Given the description of an element on the screen output the (x, y) to click on. 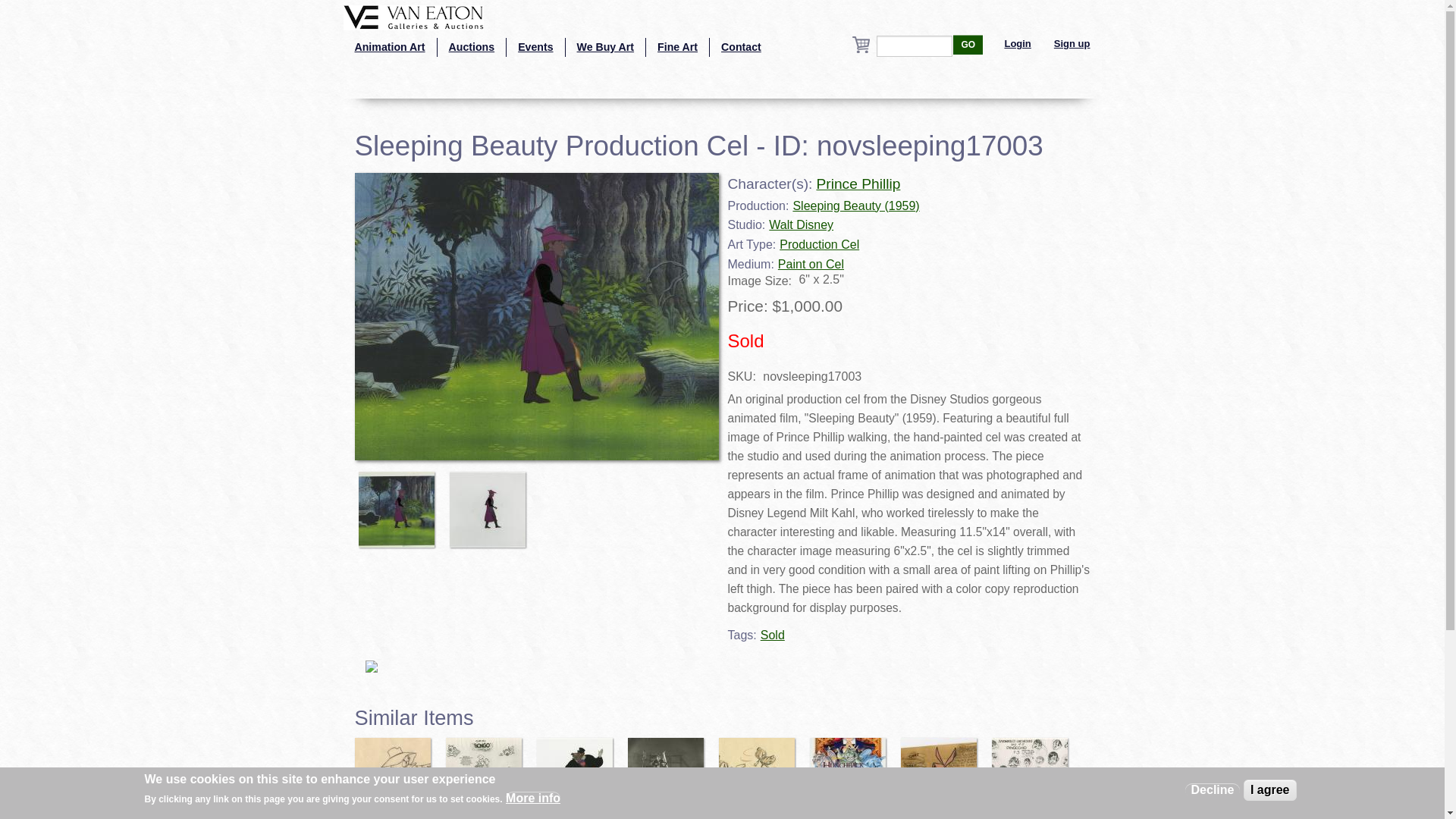
GO (968, 44)
Sleeping Beauty Production Cel - ID: novsleeping17003 (491, 502)
Paint on Cel (810, 264)
Fine Art (677, 46)
View Art by Studio (388, 46)
Home (412, 15)
Sign up (1072, 43)
Sleeping Beauty Production Cel - ID: novsleeping17003 (400, 502)
Walt Disney (800, 224)
Login (1017, 43)
Contact (741, 46)
Auctions (472, 46)
Production Cel (818, 244)
Prince Phillip (857, 183)
